Given the description of an element on the screen output the (x, y) to click on. 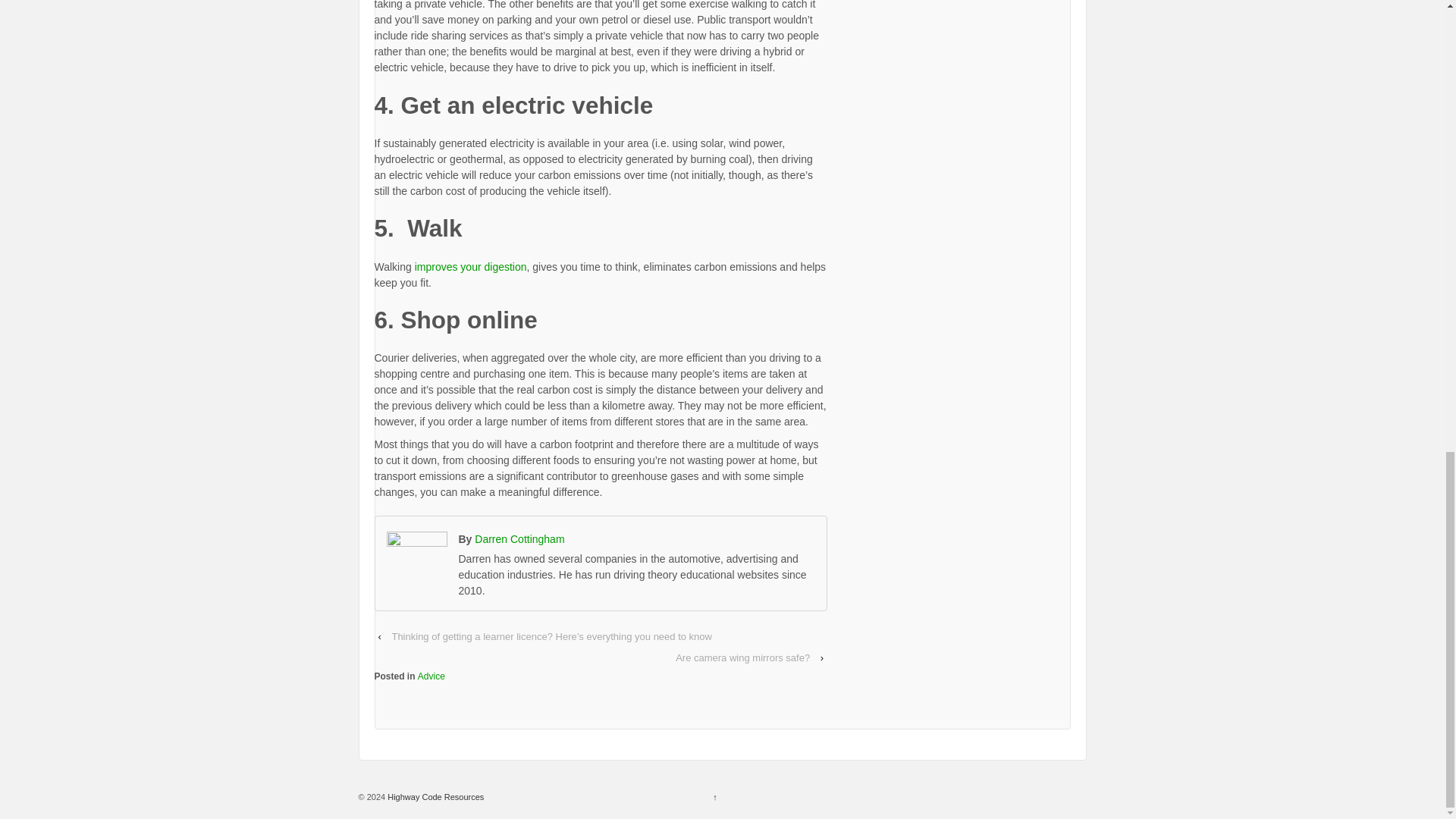
improves your digestion (470, 266)
Are camera wing mirrors safe? (742, 657)
Darren Cottingham (519, 539)
Highway Code Resources (434, 796)
Advice (431, 675)
